Given the description of an element on the screen output the (x, y) to click on. 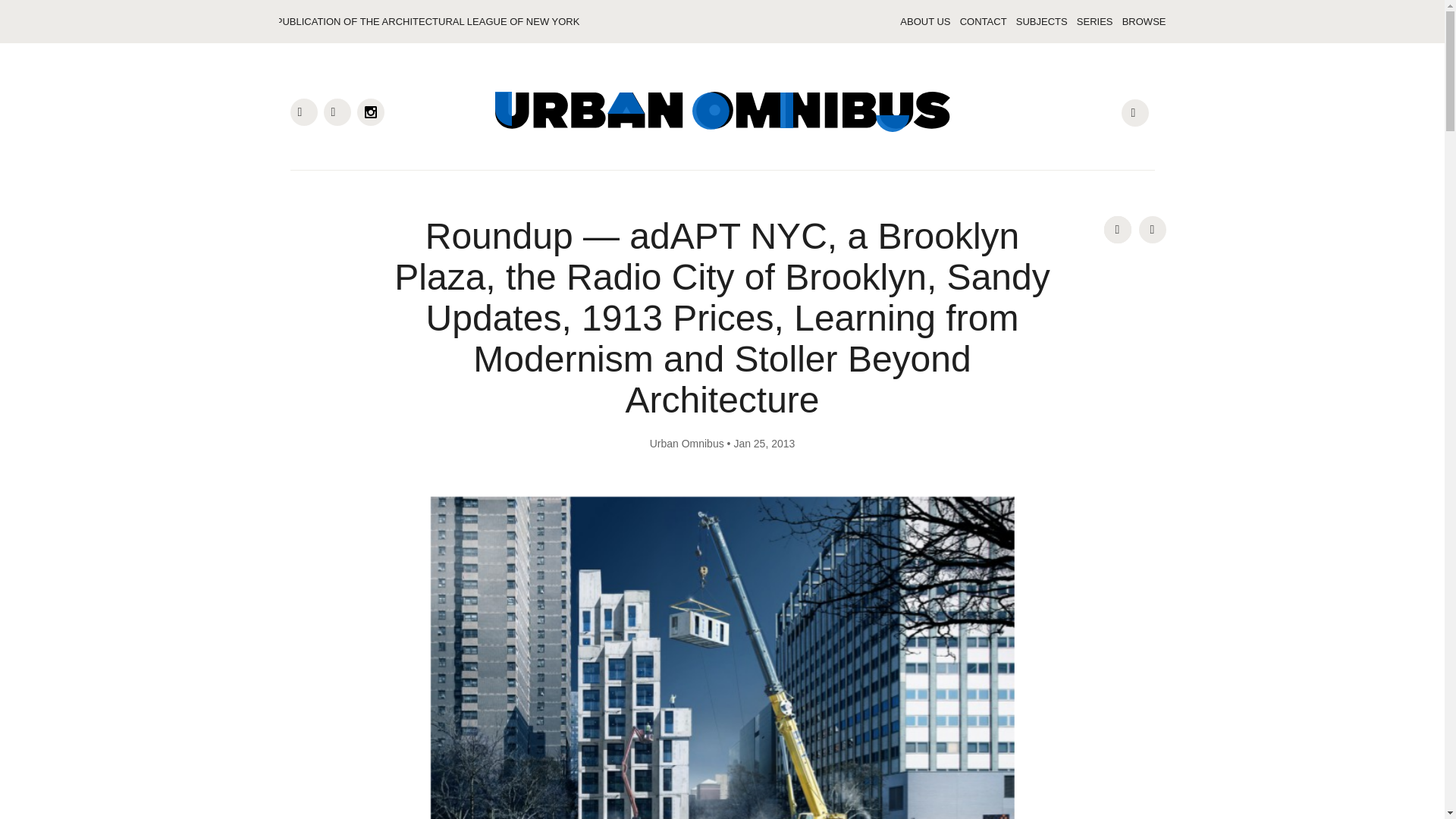
THE ARCHITECTURAL LEAGUE OF NEW YORK (469, 21)
SERIES (1091, 21)
SUBJECTS (1038, 21)
ABOUT US (921, 21)
Urban Omnibus (686, 443)
CONTACT (980, 21)
BROWSE (1141, 21)
